Given the description of an element on the screen output the (x, y) to click on. 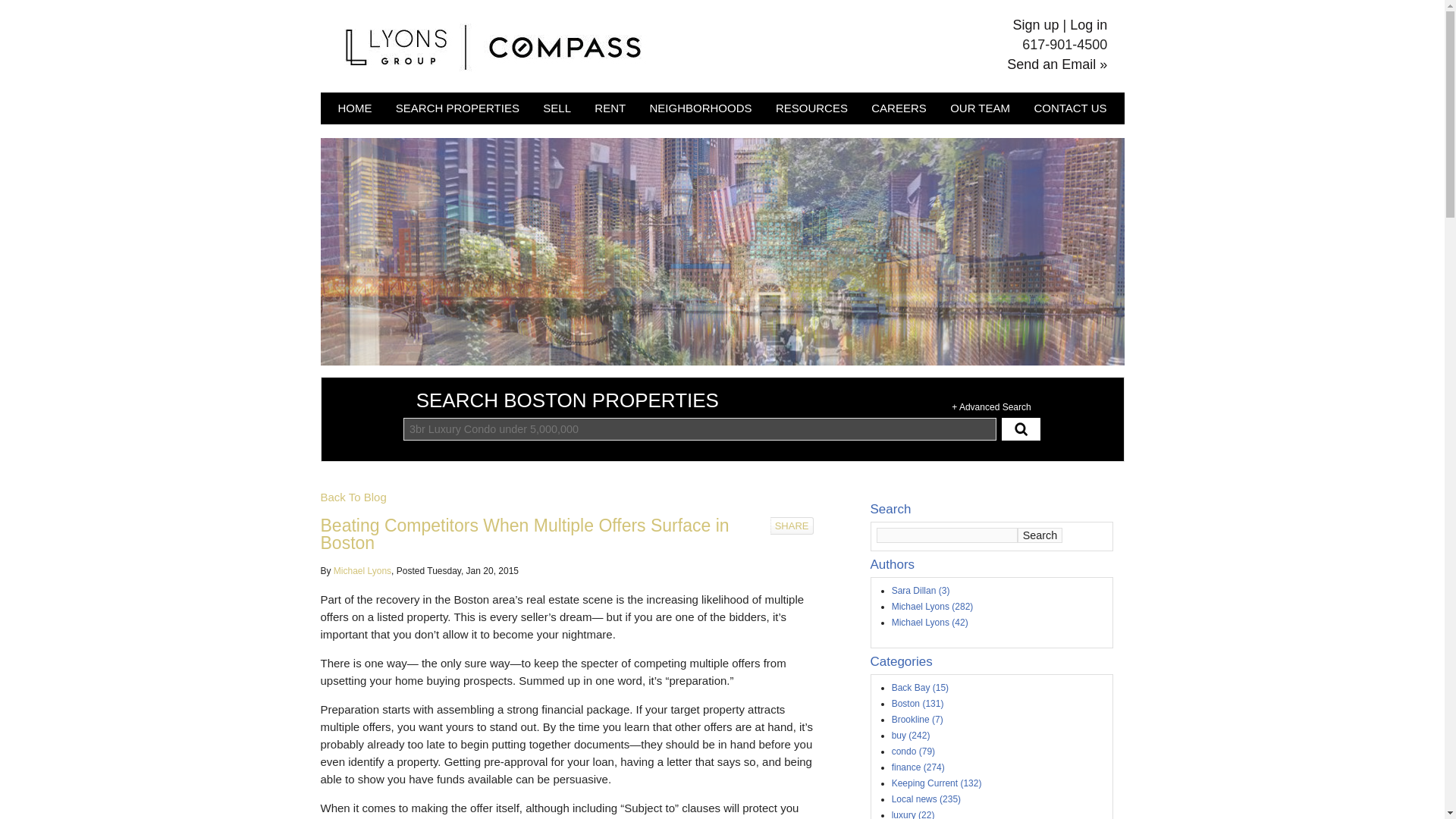
Log in (1088, 24)
Back To Blog (352, 496)
HOME (354, 109)
SELL (556, 109)
Sign up (1036, 24)
Log in (1088, 24)
SHARE (791, 525)
Send an Email (1052, 64)
Prudential Lyons Group Real Estate (493, 46)
CONTACT US (1069, 109)
NEIGHBORHOODS (700, 109)
Sign up (1036, 24)
RESOURCES (811, 109)
SEARCH PROPERTIES (457, 109)
